Given the description of an element on the screen output the (x, y) to click on. 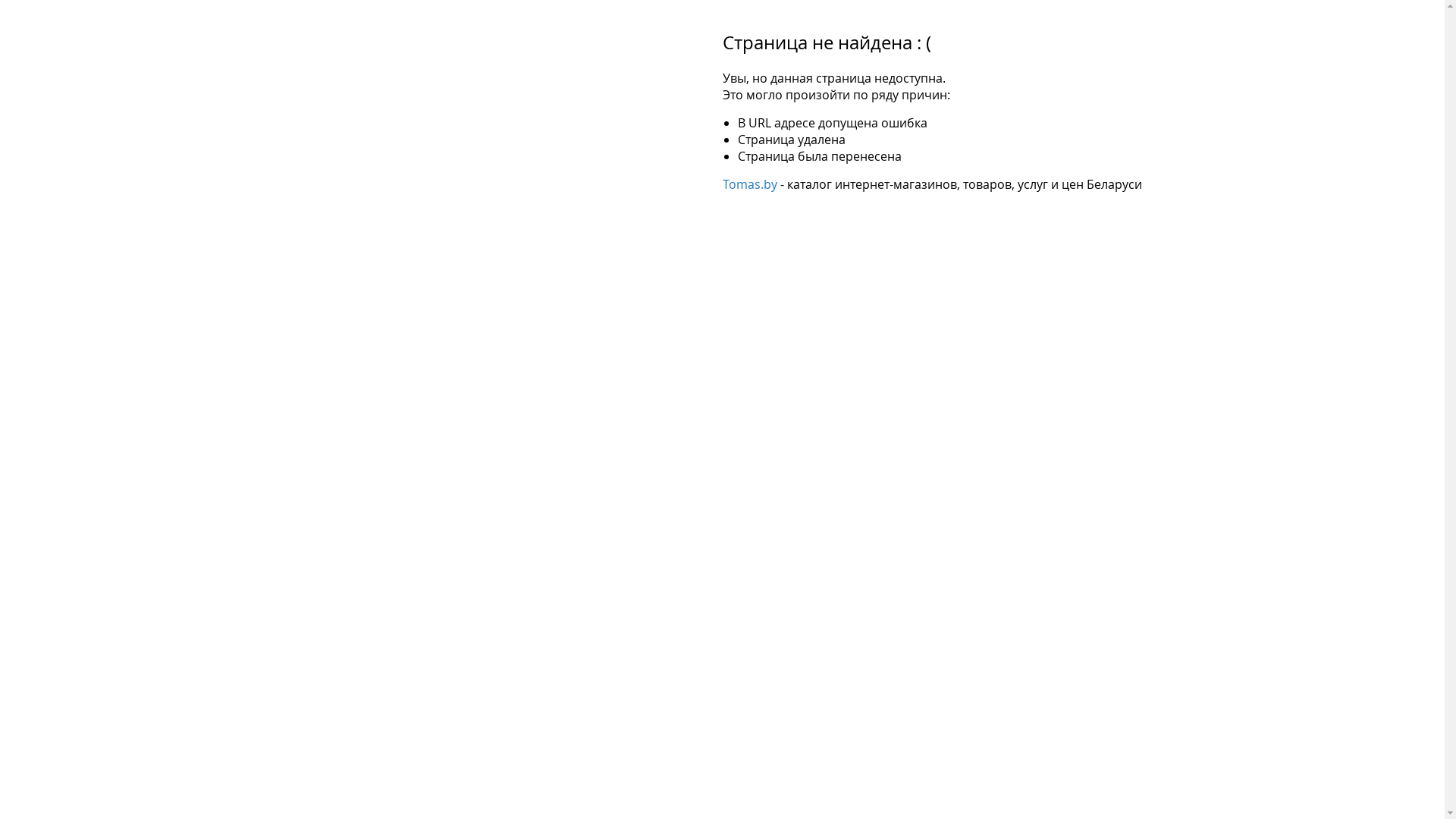
Tomas.by Element type: text (748, 183)
